Given the description of an element on the screen output the (x, y) to click on. 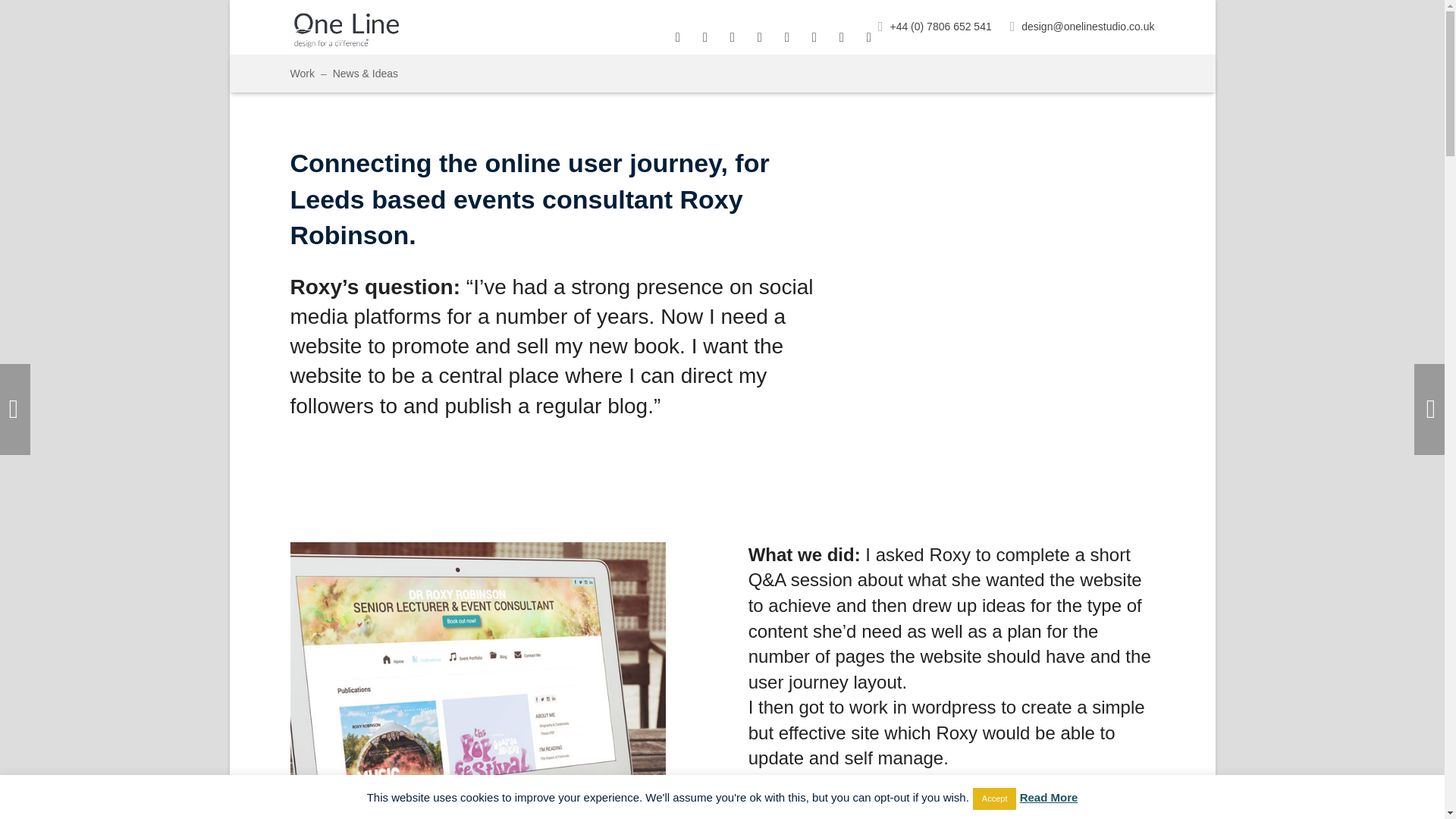
Read More (1049, 797)
Accept (994, 798)
Work (310, 73)
